Given the description of an element on the screen output the (x, y) to click on. 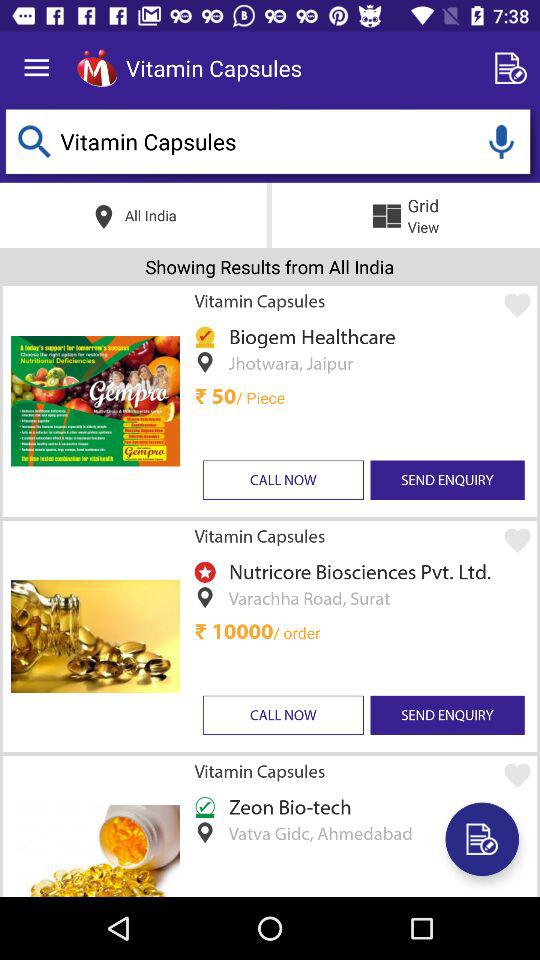
make note (482, 839)
